Given the description of an element on the screen output the (x, y) to click on. 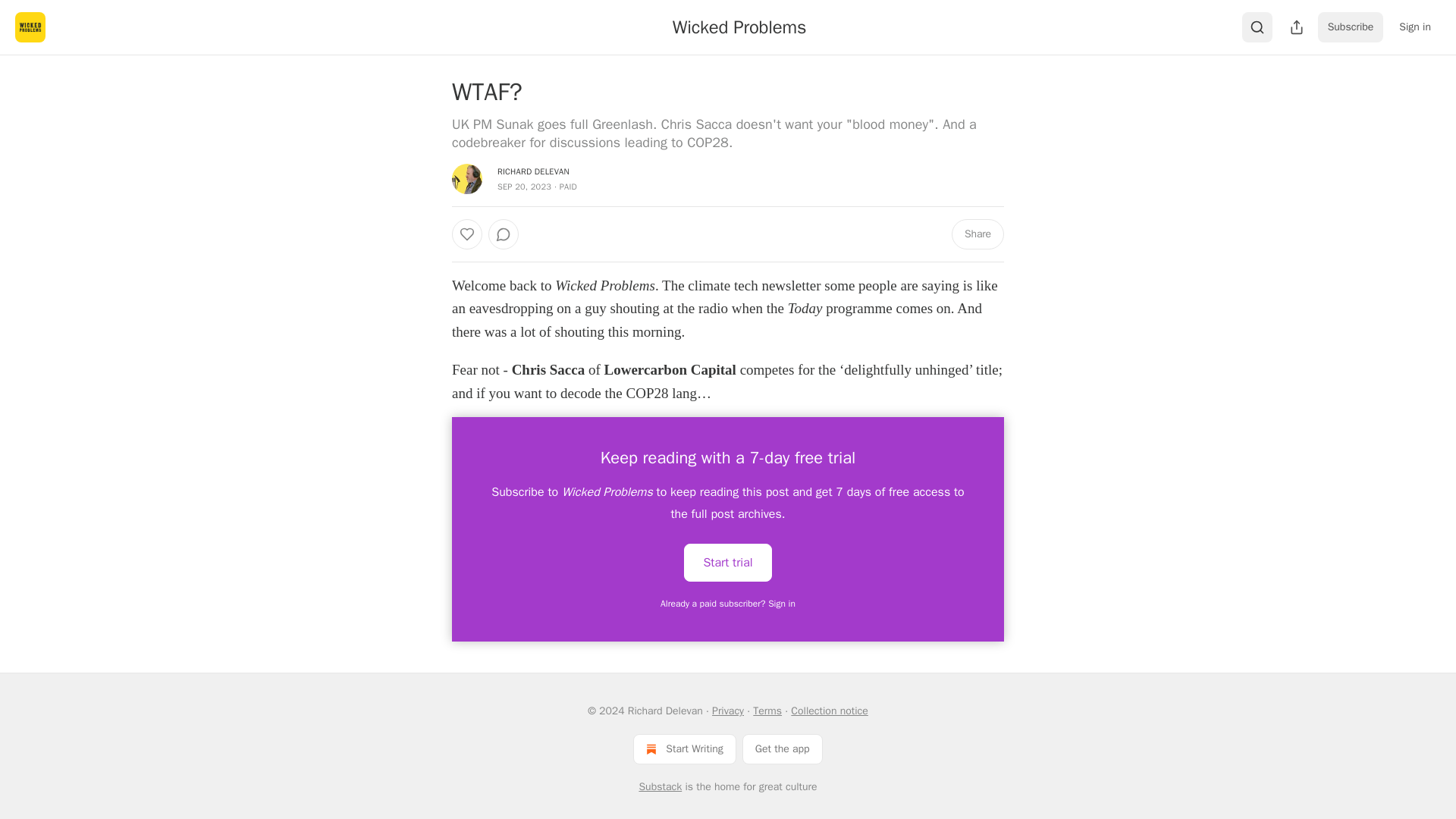
Already a paid subscriber? Sign in (727, 603)
RICHARD DELEVAN (533, 171)
Start trial (727, 561)
Collection notice (828, 710)
Sign in (1415, 27)
Substack (660, 786)
Terms (766, 710)
Privacy (727, 710)
Start Writing (684, 748)
Get the app (782, 748)
Wicked Problems (739, 26)
Subscribe (1350, 27)
Start trial (727, 562)
Share (978, 234)
